Given the description of an element on the screen output the (x, y) to click on. 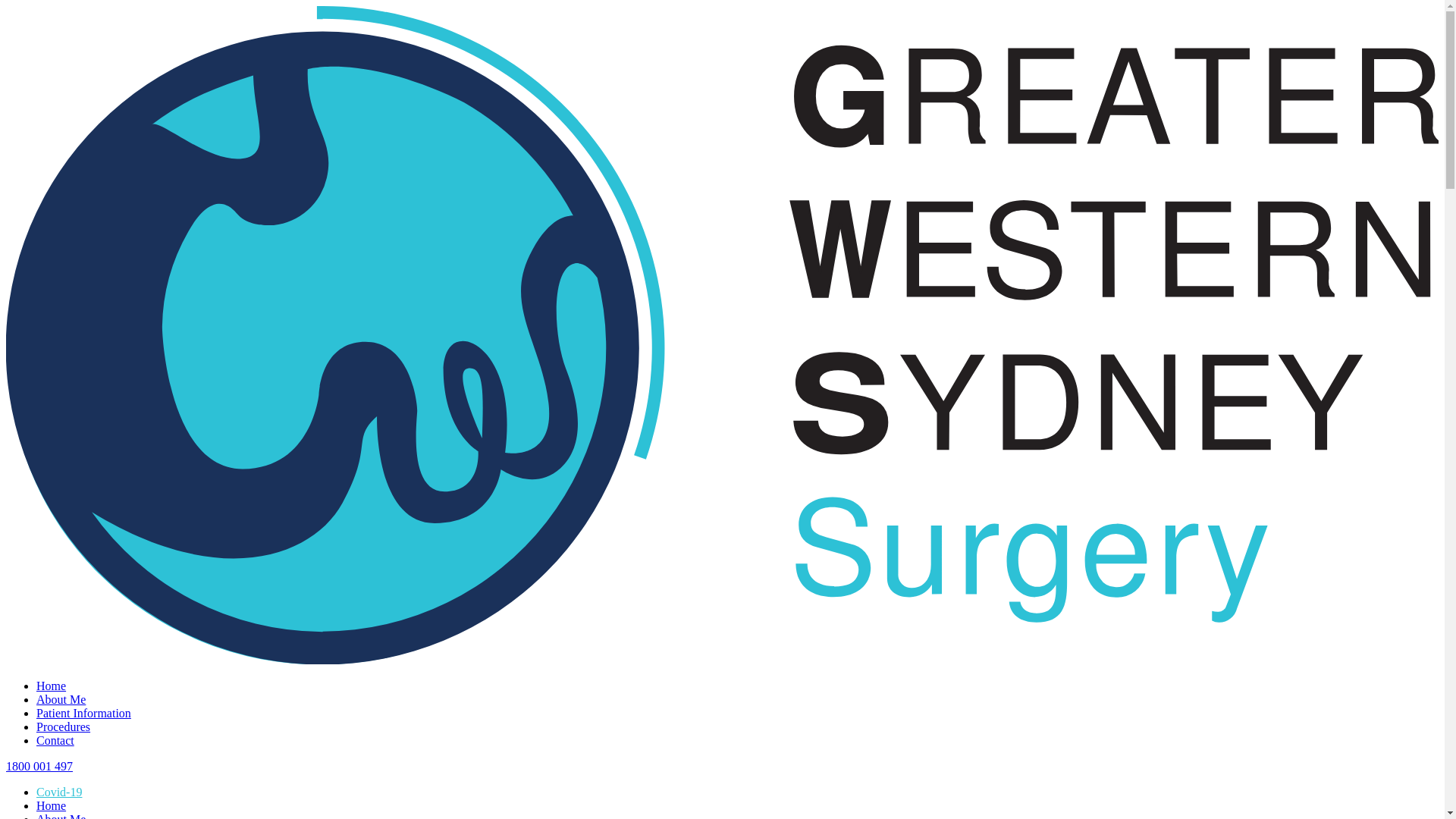
1800 001 497 Element type: text (39, 765)
Covid-19 Element type: text (58, 791)
Contact Element type: text (55, 740)
About Me Element type: text (60, 699)
Procedures Element type: text (63, 726)
Patient Information Element type: text (83, 712)
Home Element type: text (50, 805)
Home Element type: text (50, 685)
